Given the description of an element on the screen output the (x, y) to click on. 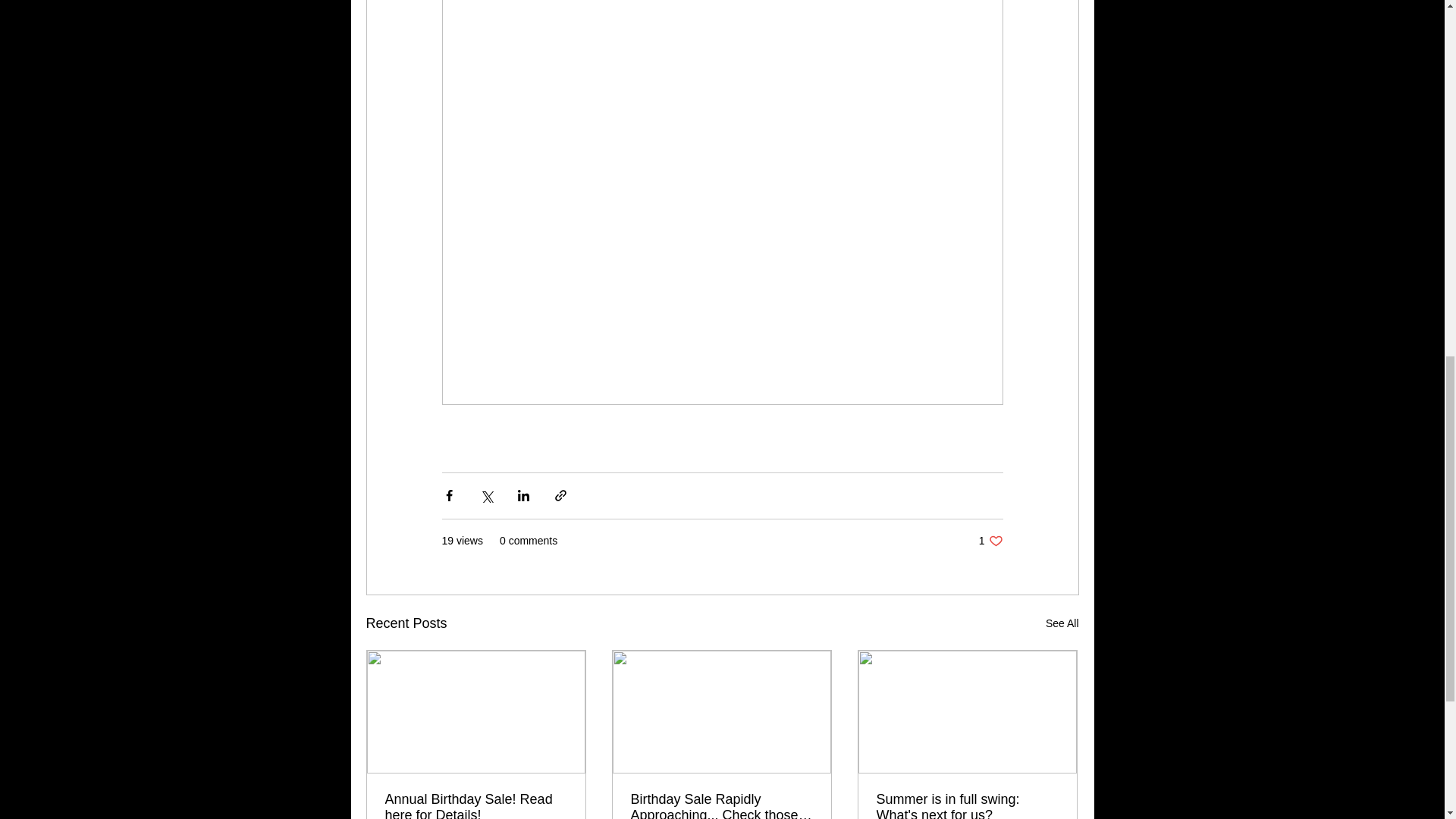
Summer is in full swing: What's next for us? (967, 805)
Annual Birthday Sale! Read here for Details! (990, 540)
See All (476, 805)
Birthday Sale Rapidly Approaching... Check those emails! (1061, 623)
